Given the description of an element on the screen output the (x, y) to click on. 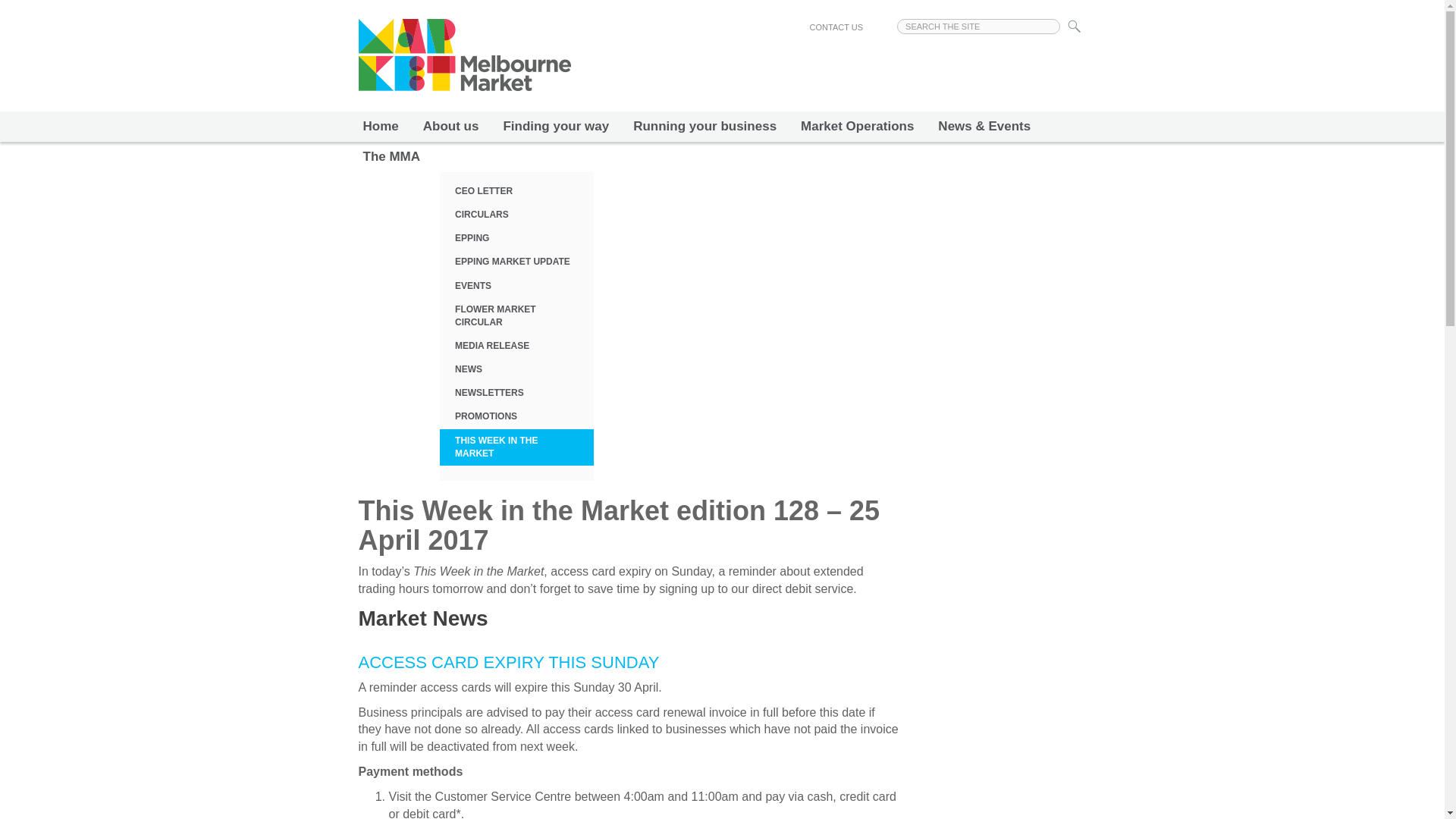
Running your business (705, 126)
Running your business (705, 126)
Market Operations (857, 126)
About us (451, 126)
Home (380, 126)
About us (451, 126)
Finding your way (555, 126)
The MMA (391, 156)
CONTACT US (836, 26)
Search (1075, 27)
